Given the description of an element on the screen output the (x, y) to click on. 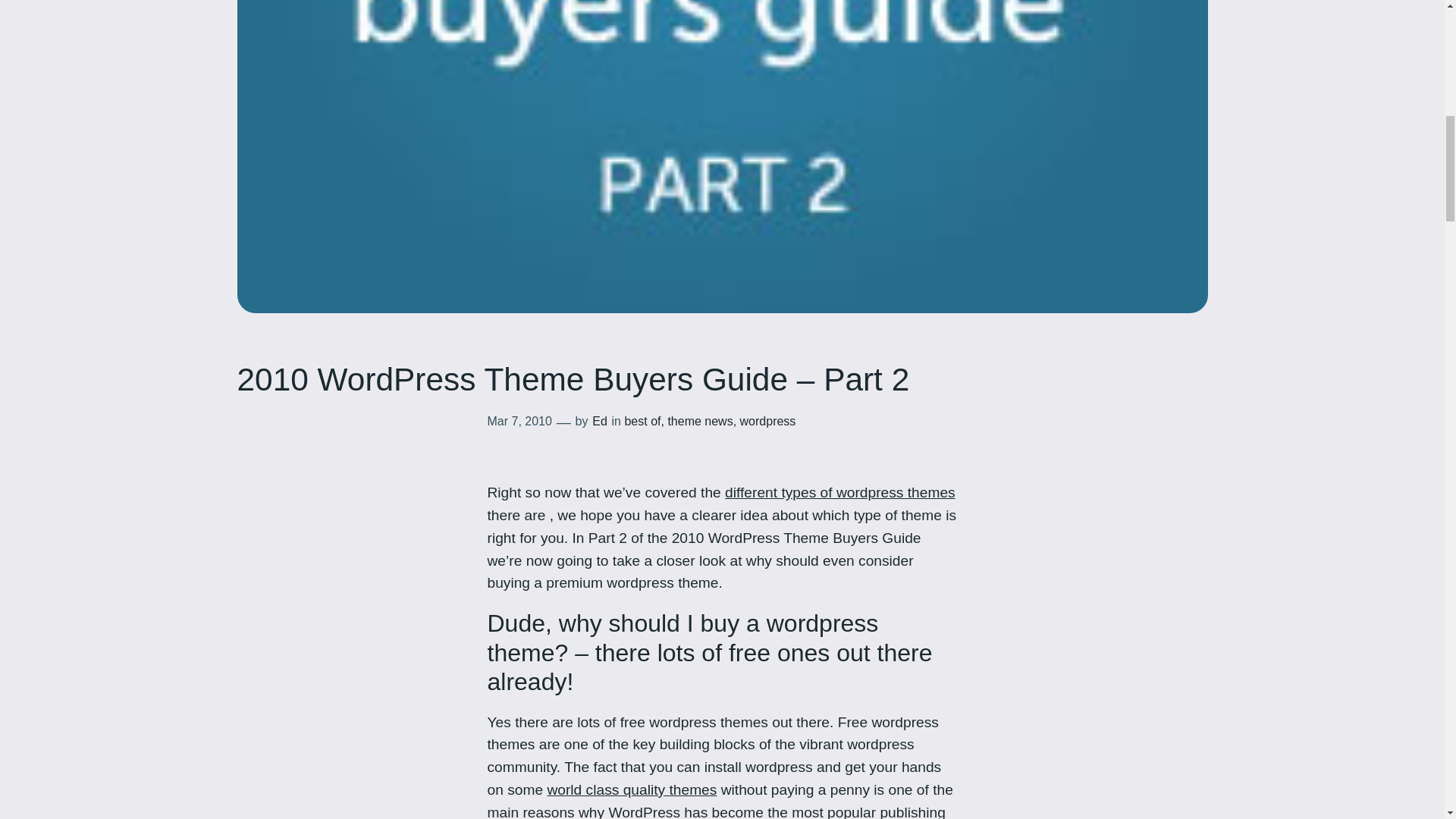
different types of wordpress themes (840, 492)
theme news (699, 420)
best of (642, 420)
wordpress (767, 420)
world class quality themes (631, 789)
Ed (599, 420)
Mar 7, 2010 (518, 420)
